Given the description of an element on the screen output the (x, y) to click on. 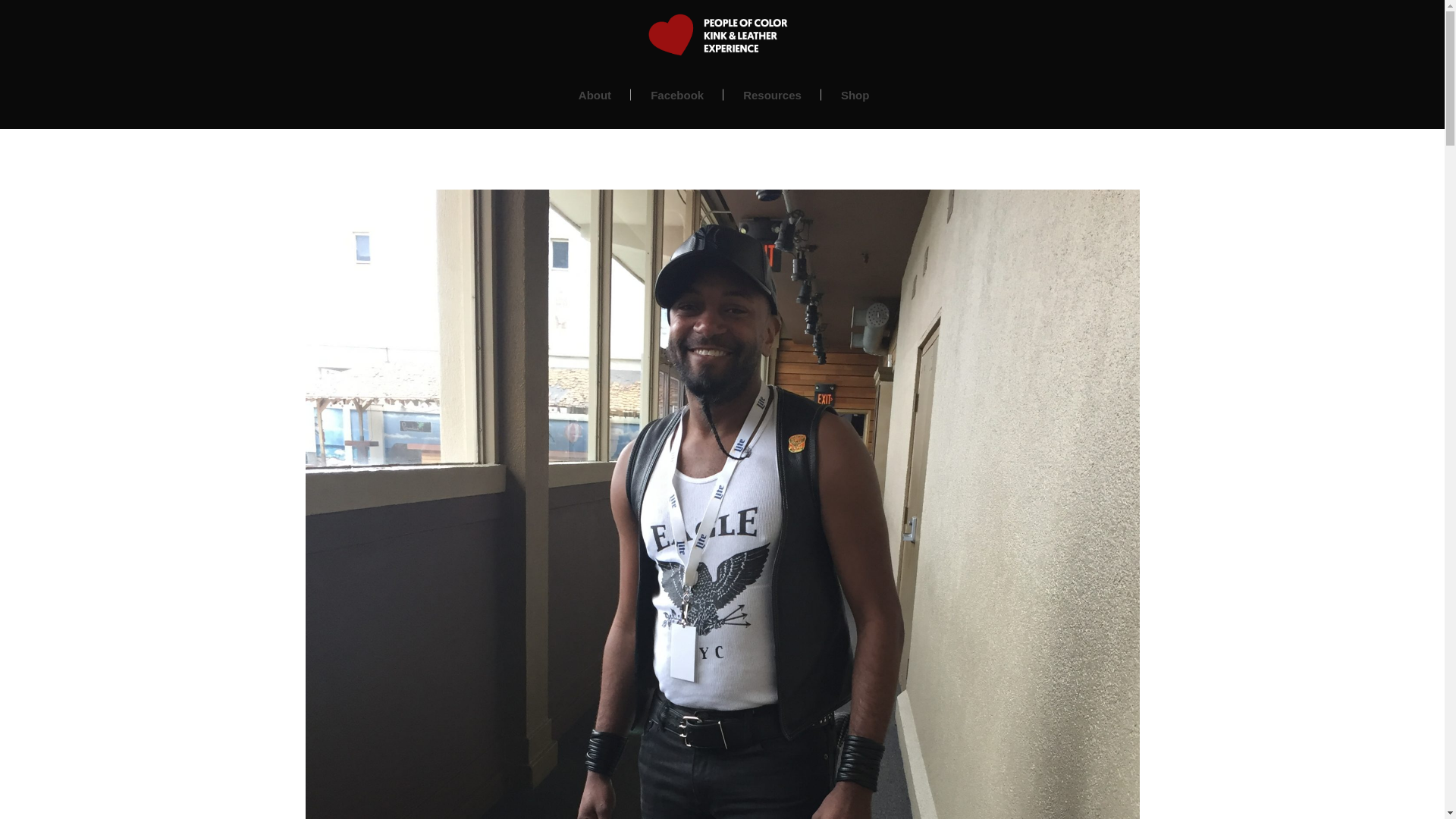
About (594, 94)
Resources (772, 94)
Facebook (676, 94)
Shop (855, 94)
